Given the description of an element on the screen output the (x, y) to click on. 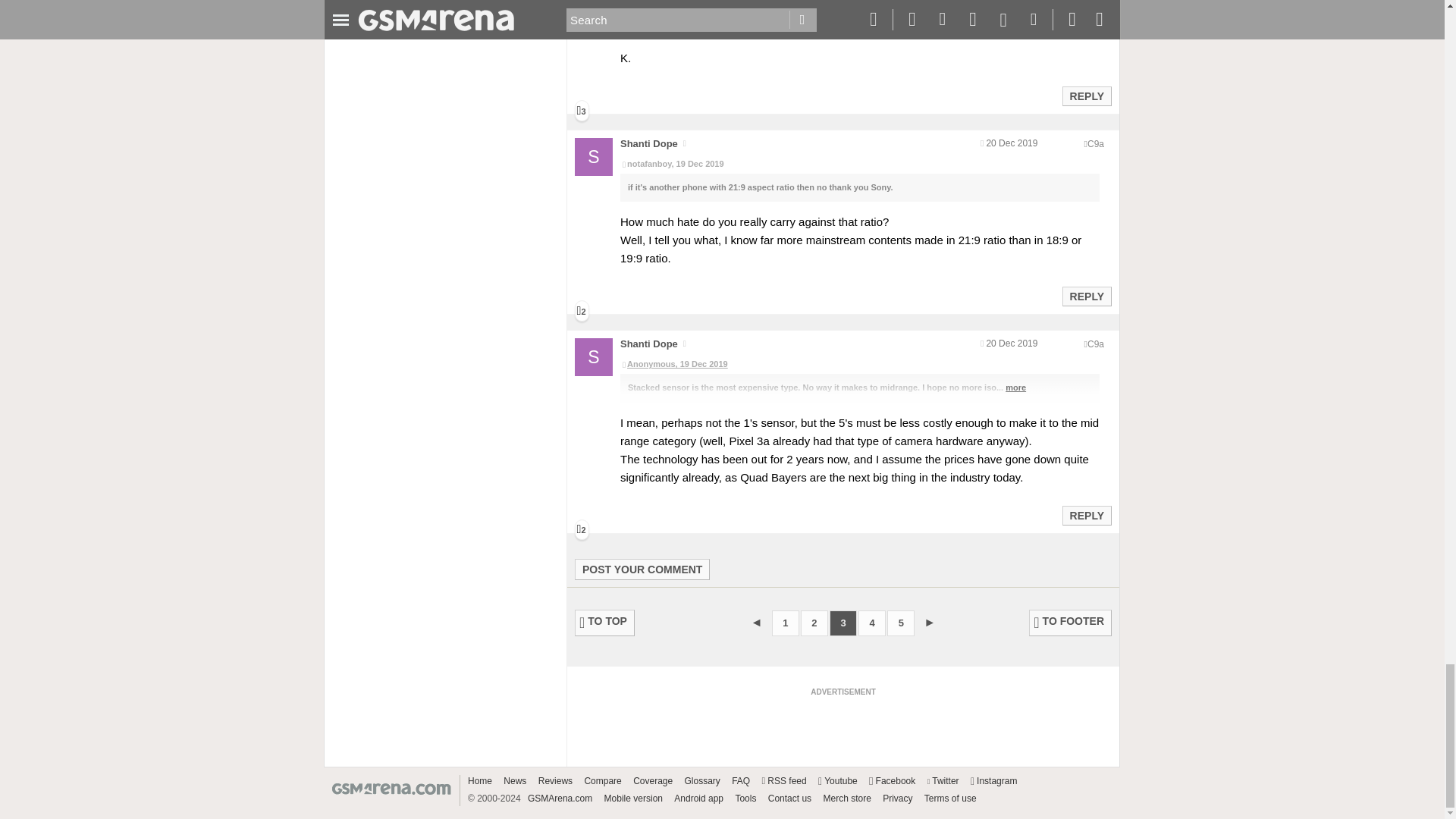
TO TOP (604, 622)
